Given the description of an element on the screen output the (x, y) to click on. 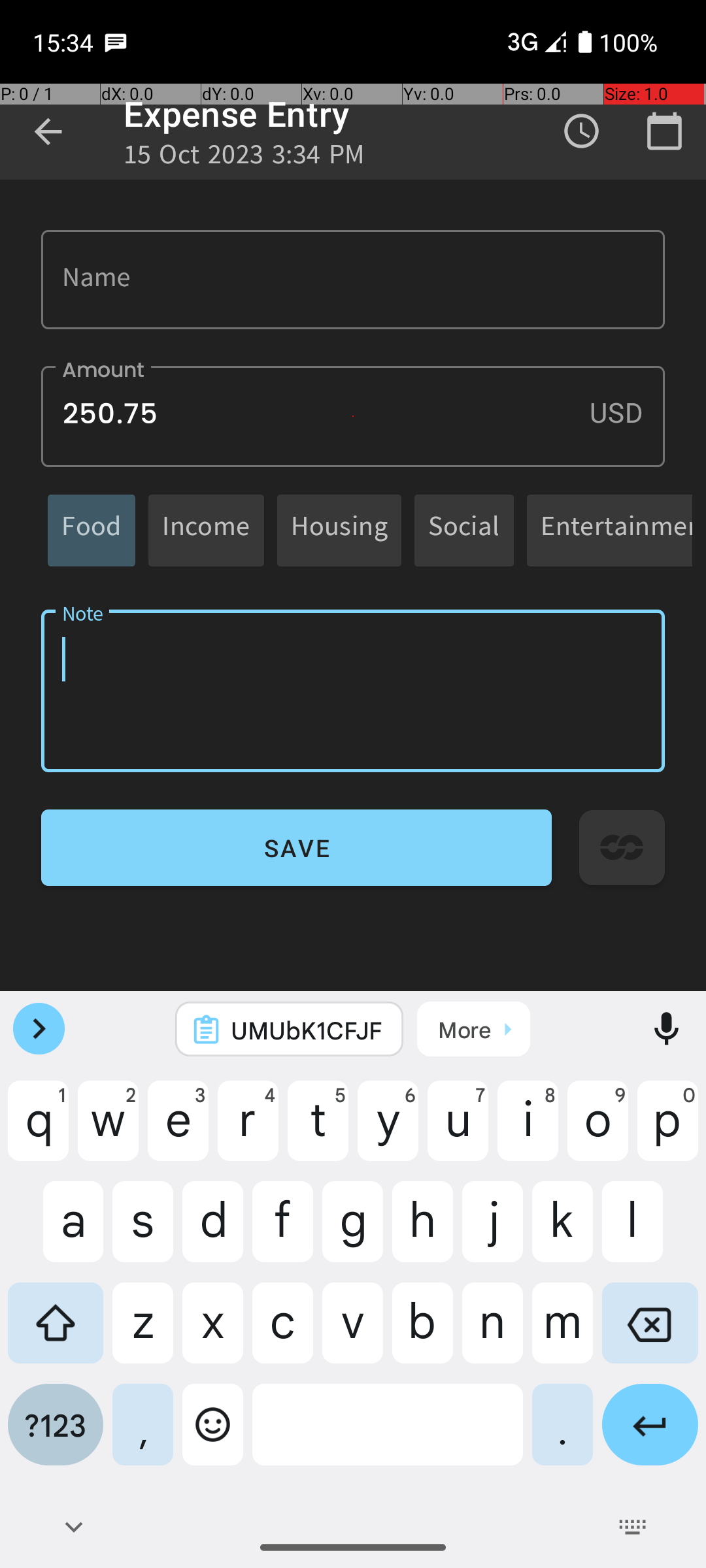
Expense Entry Element type: android.widget.TextView (236, 113)
15 Oct 2023 3:34 PM Element type: android.widget.TextView (244, 157)
Name Element type: android.widget.EditText (352, 279)
250.75 Element type: android.widget.EditText (352, 416)
SAVE Element type: android.widget.Button (296, 847)
Open features menu Element type: android.widget.FrameLayout (39, 1028)
Enter Element type: android.widget.FrameLayout (649, 1434)
Click to open Clipboard Element type: android.view.ViewGroup (473, 1028)
UMUbK1CFJF Element type: android.widget.TextView (306, 1029)
SMS Messenger notification: +12845986552 Element type: android.widget.ImageView (115, 41)
